Given the description of an element on the screen output the (x, y) to click on. 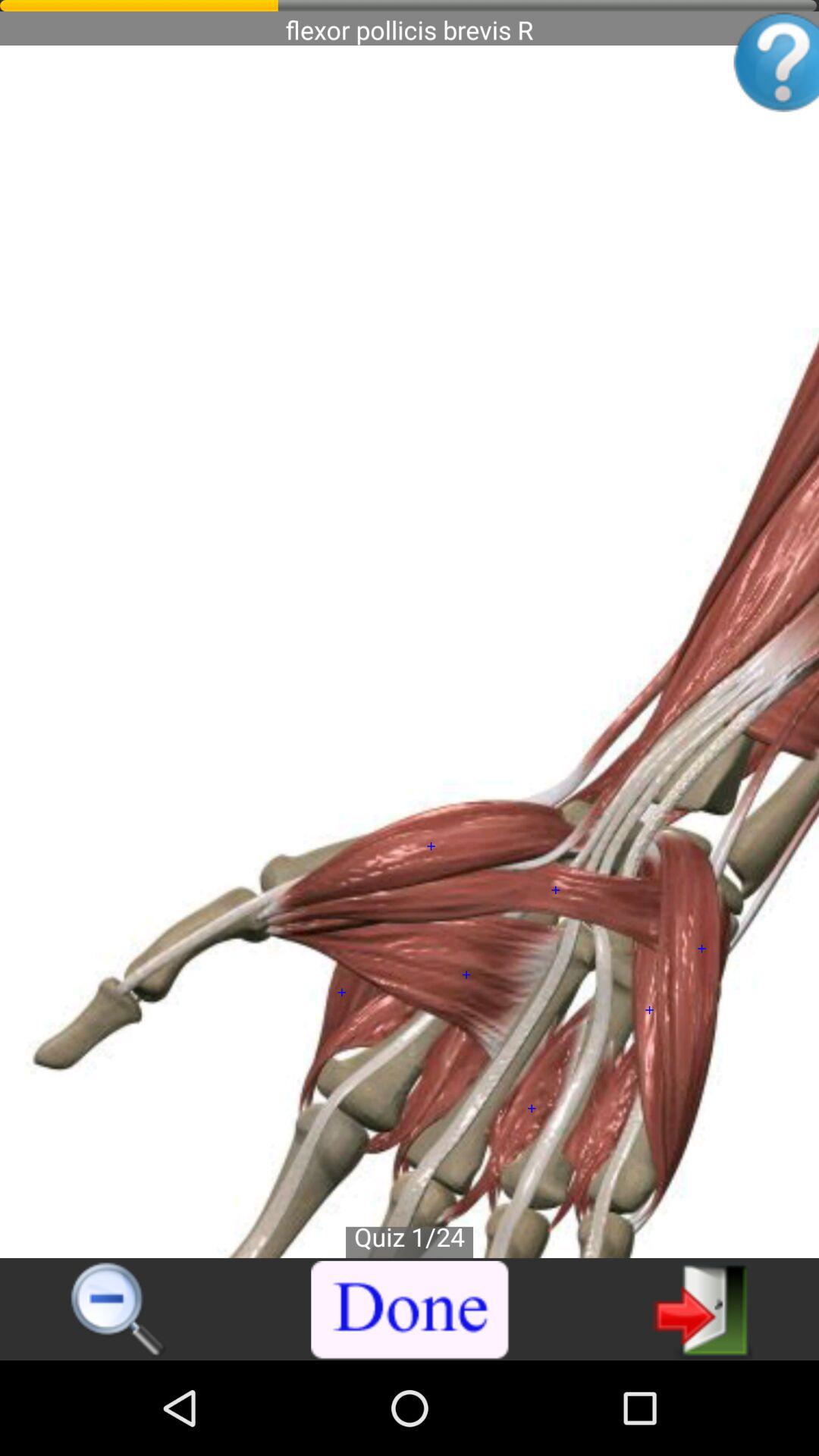
open icon at the bottom right corner (702, 1309)
